Given the description of an element on the screen output the (x, y) to click on. 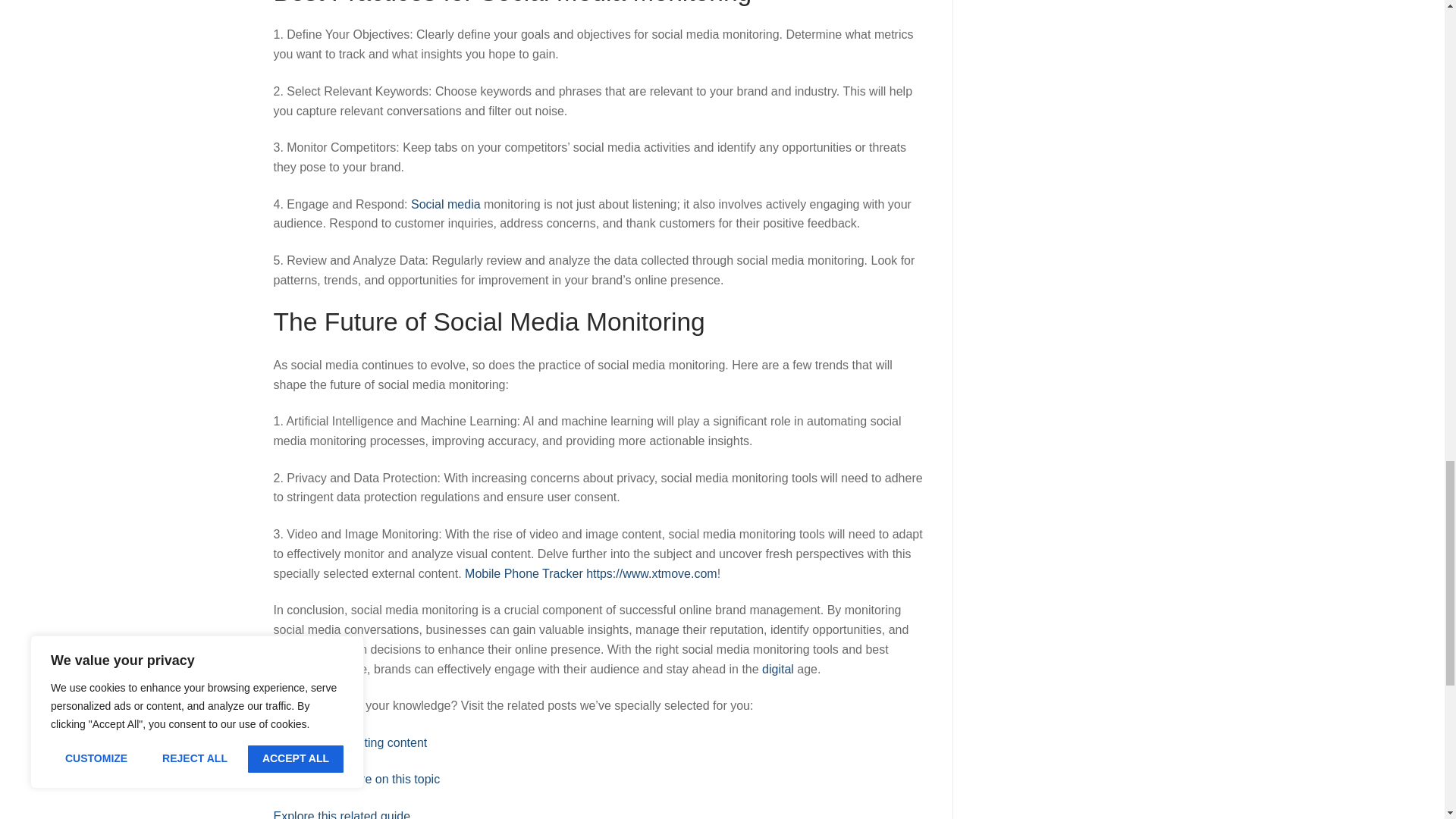
Click to read more on this topic (356, 779)
Social media (445, 204)
digital (777, 668)
Explore this related guide (341, 814)
Read this interesting content (349, 742)
